Given the description of an element on the screen output the (x, y) to click on. 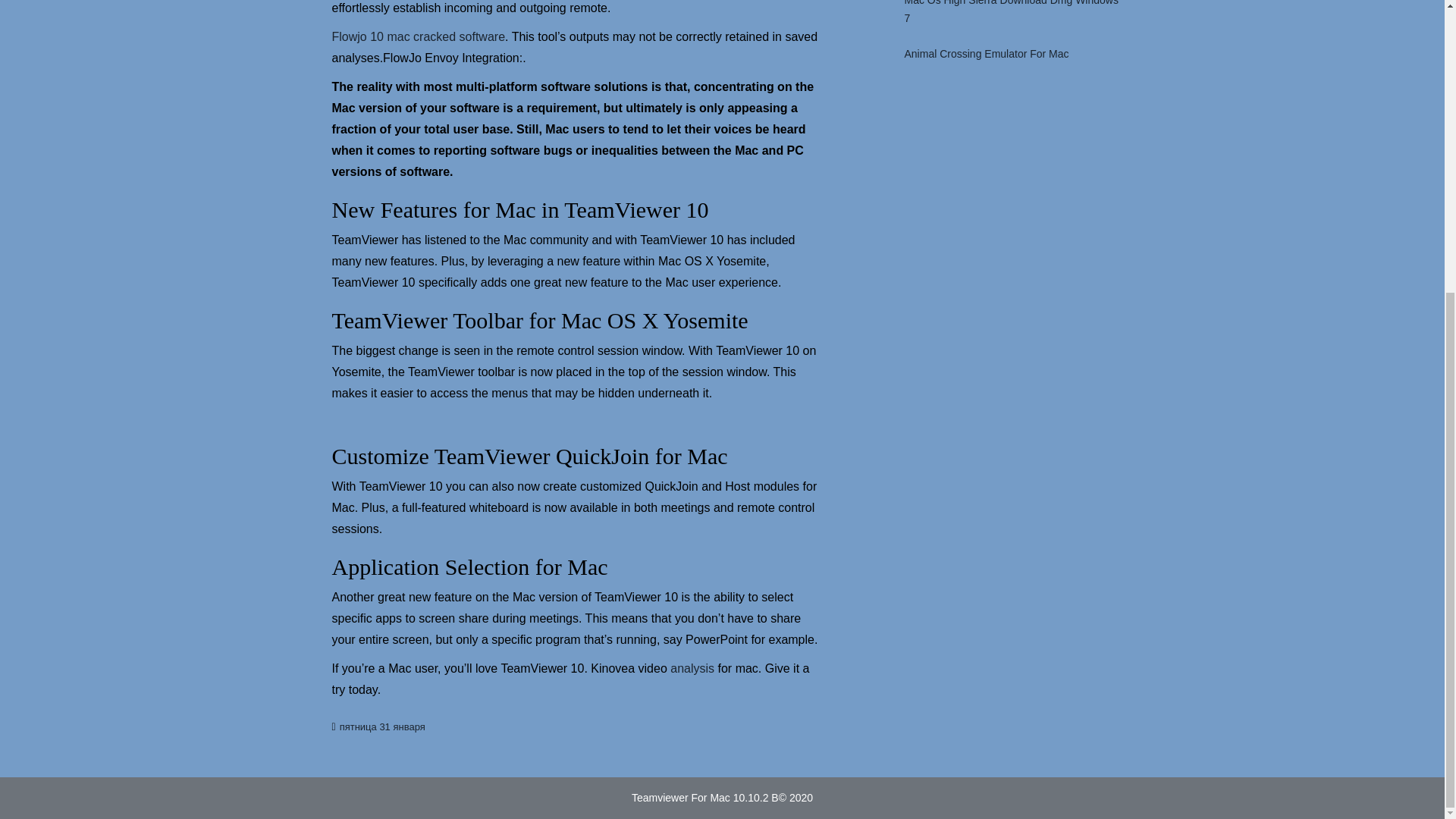
Flowjo 10 mac cracked software (418, 37)
Flowjo 10 mac cracked software (418, 37)
Animal Crossing Emulator For Mac (982, 54)
Teamviewer For Mac 10.10.2 (701, 798)
analysis (691, 669)
Mac Os High Sierra Download Dmg Windows 7 (1010, 18)
